Given the description of an element on the screen output the (x, y) to click on. 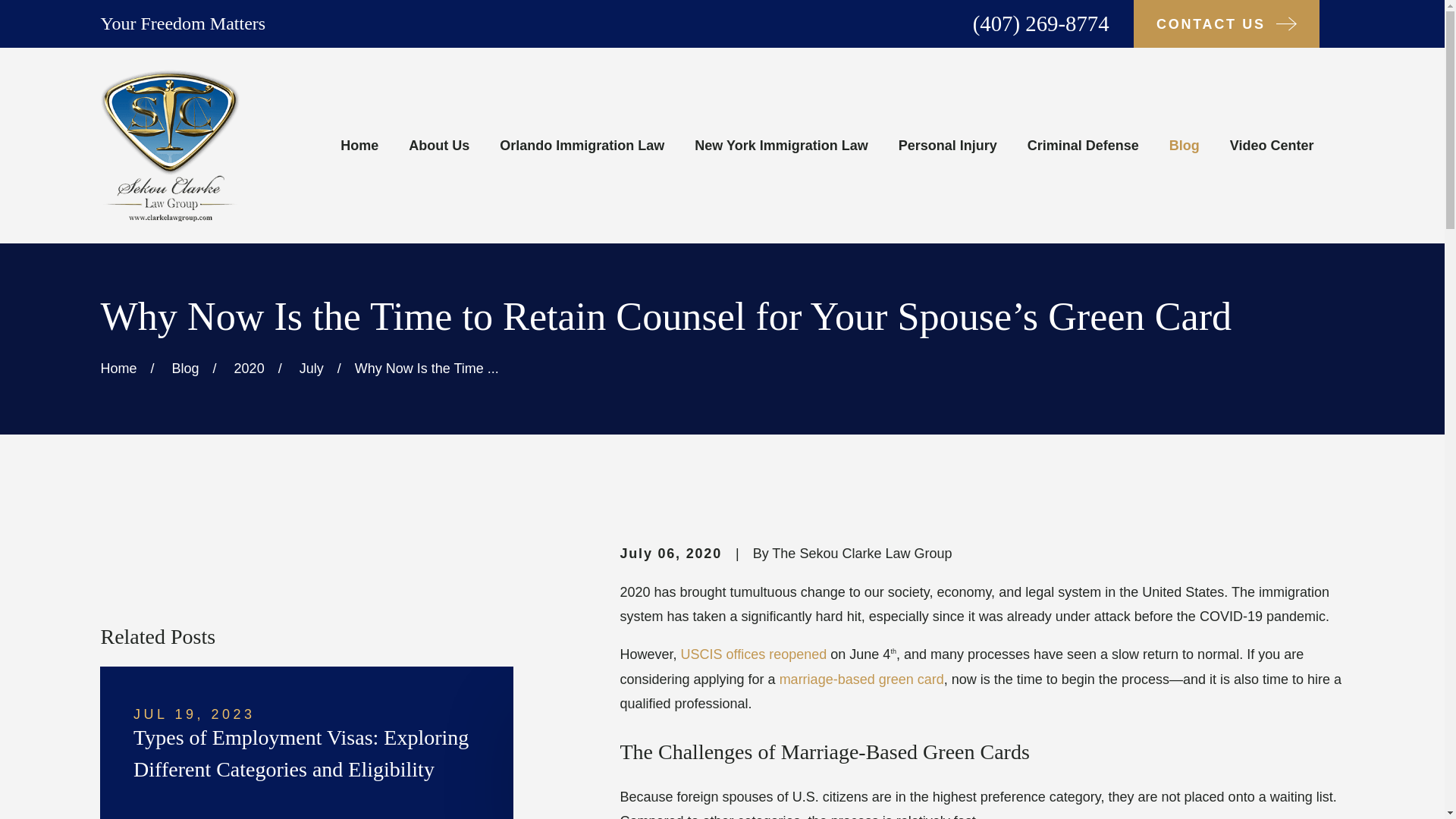
Orlando Immigration Law (581, 145)
New York Immigration Law (780, 145)
About Us (438, 145)
CONTACT US (1226, 23)
Go Home (118, 368)
Home (170, 145)
